Given the description of an element on the screen output the (x, y) to click on. 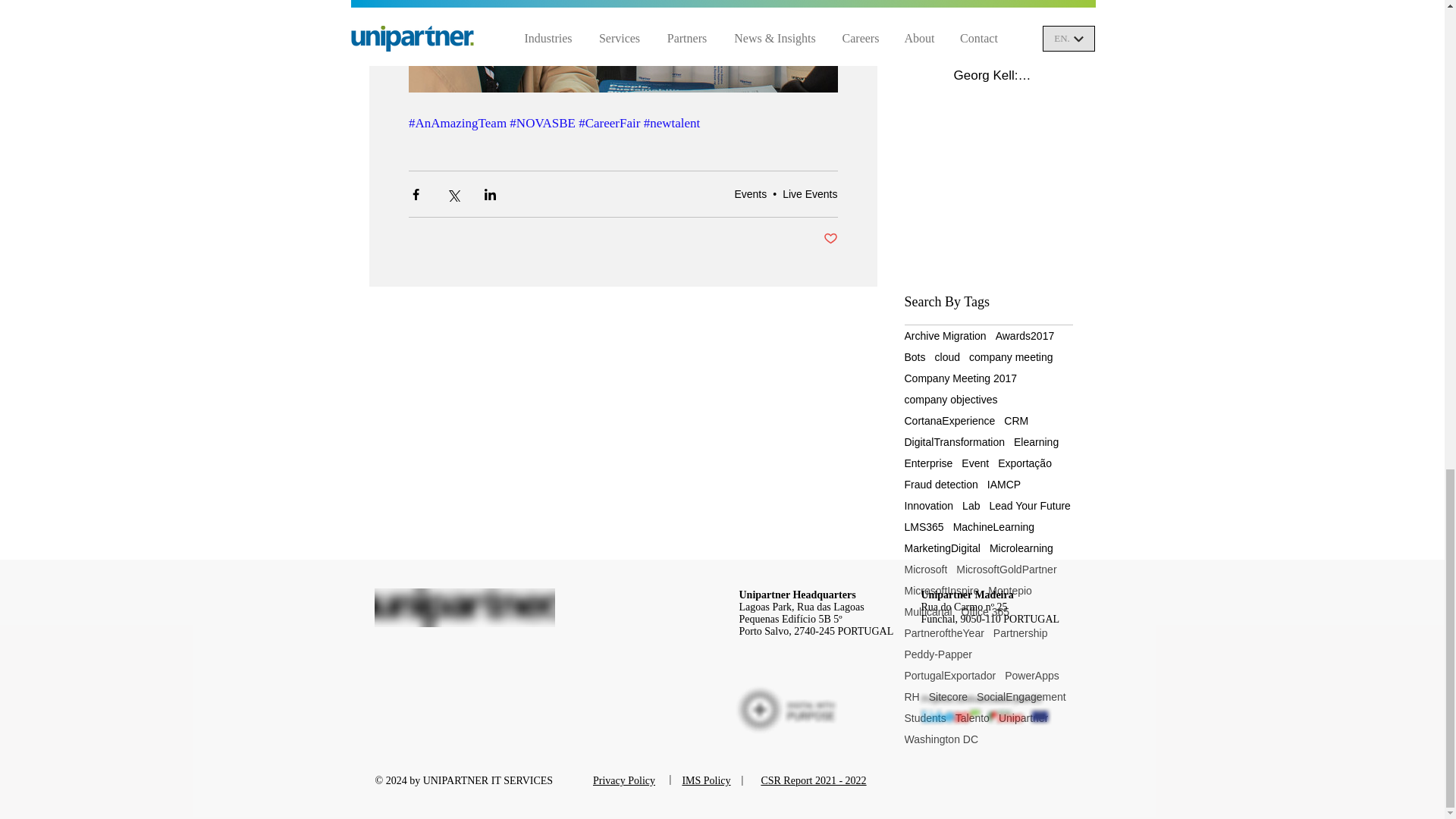
Live Events (810, 193)
Events (750, 193)
Post not marked as liked (831, 238)
